Given the description of an element on the screen output the (x, y) to click on. 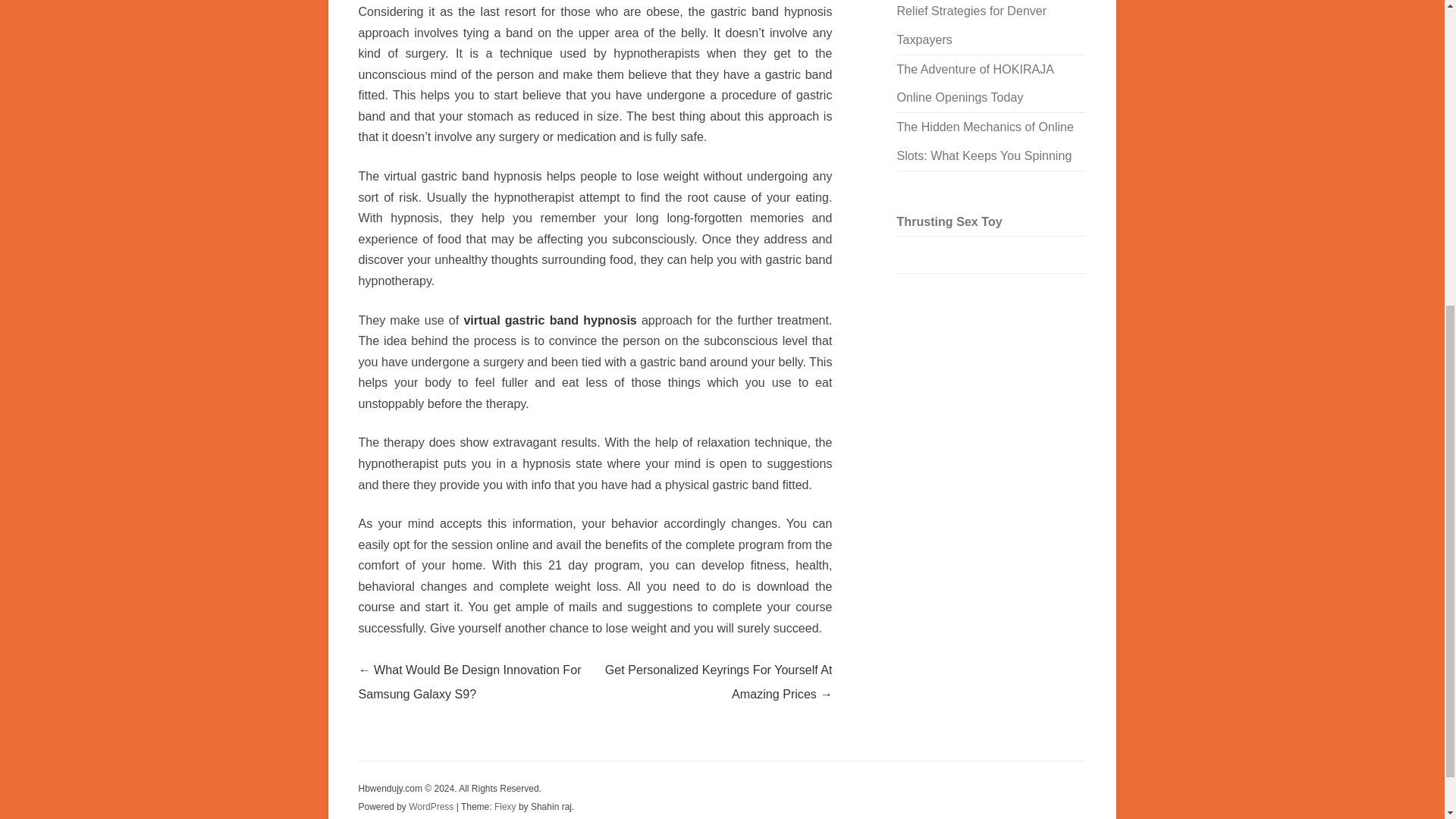
The Adventure of HOKIRAJA Online Openings Today (974, 83)
virtual gastric band hypnosis (549, 319)
Flexy (505, 806)
WordPress (432, 806)
Thrusting Sex Toy (948, 221)
